Given the description of an element on the screen output the (x, y) to click on. 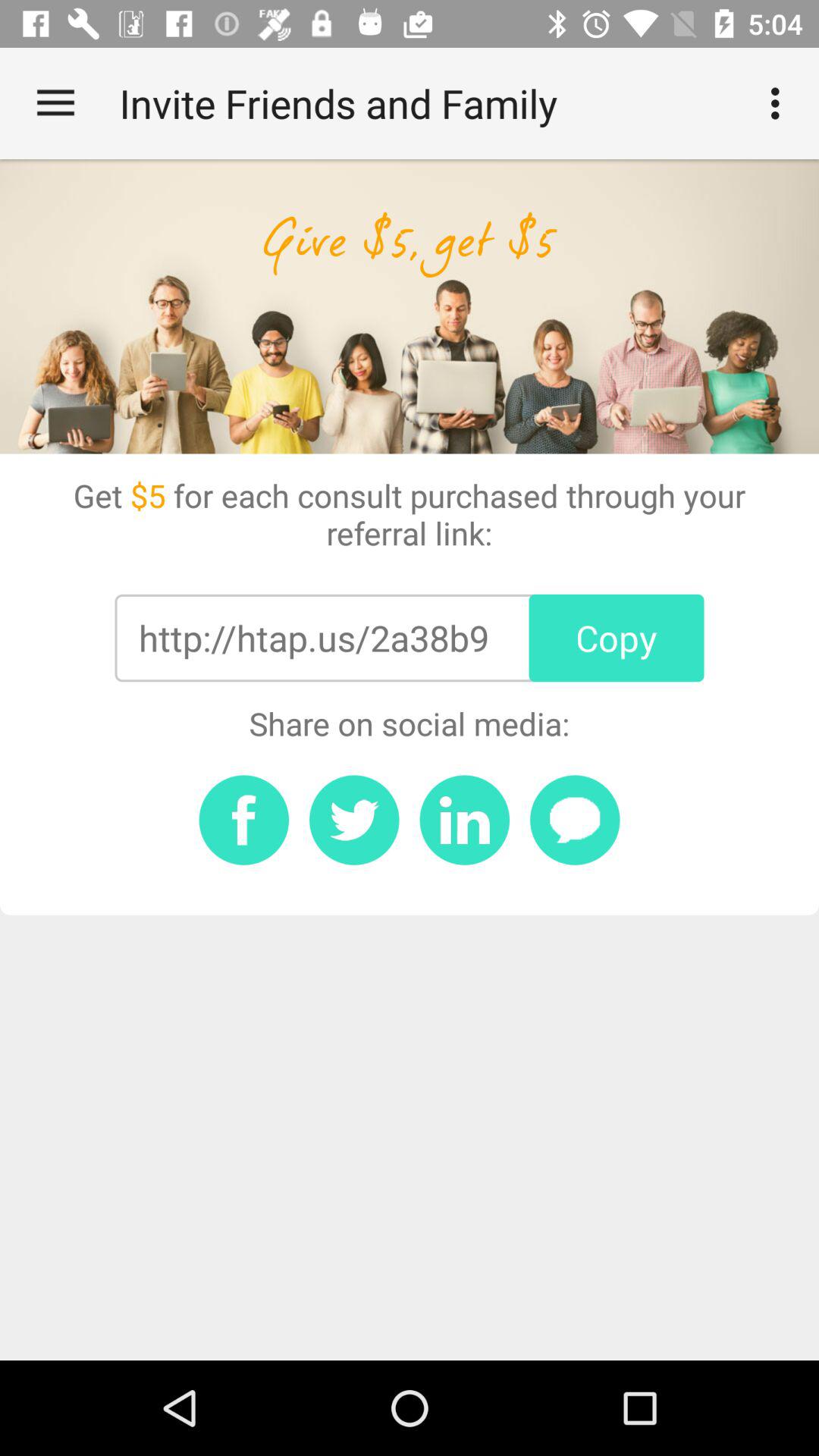
share on linkedin (464, 820)
